Given the description of an element on the screen output the (x, y) to click on. 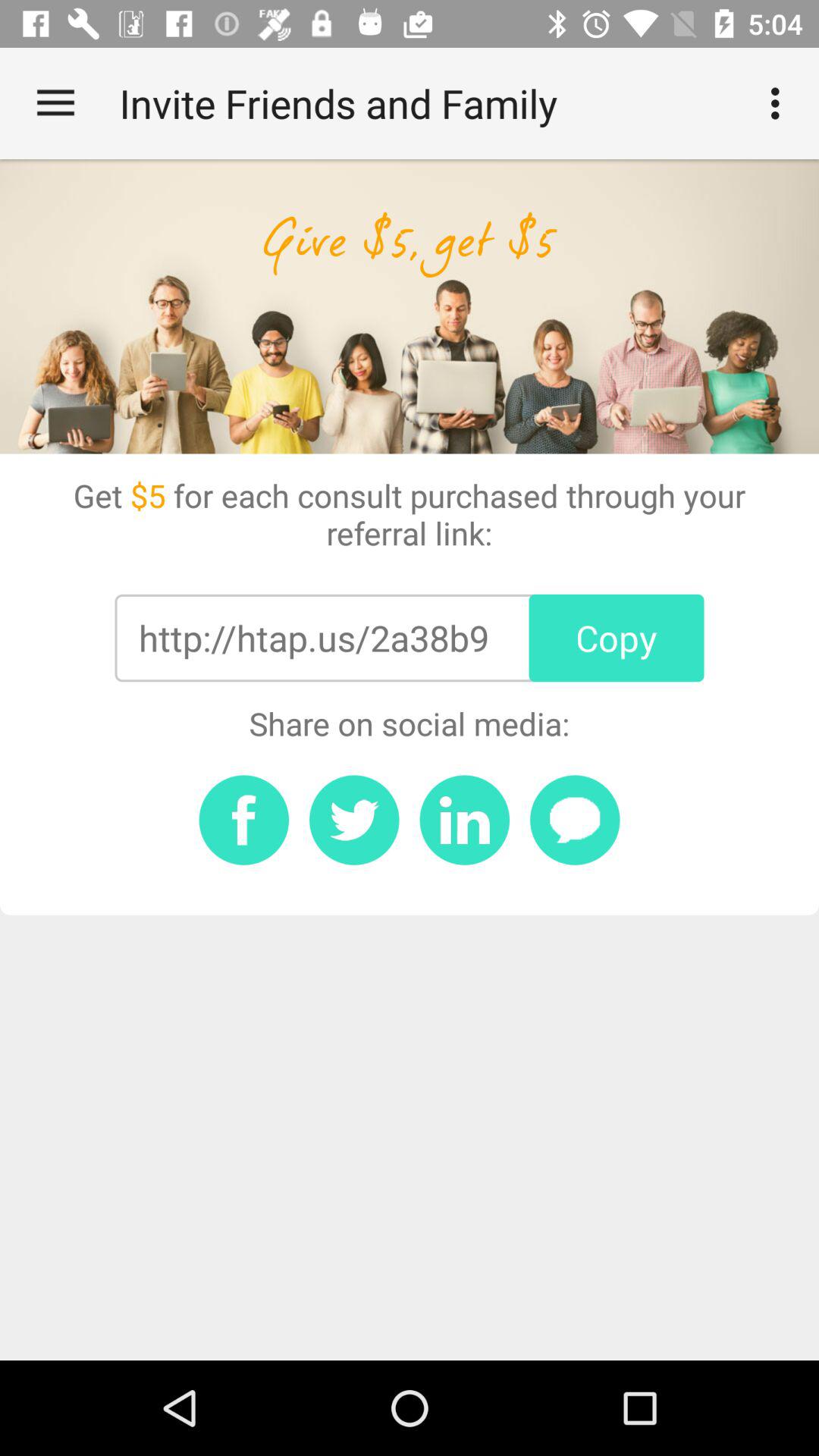
share on linkedin (464, 820)
